Given the description of an element on the screen output the (x, y) to click on. 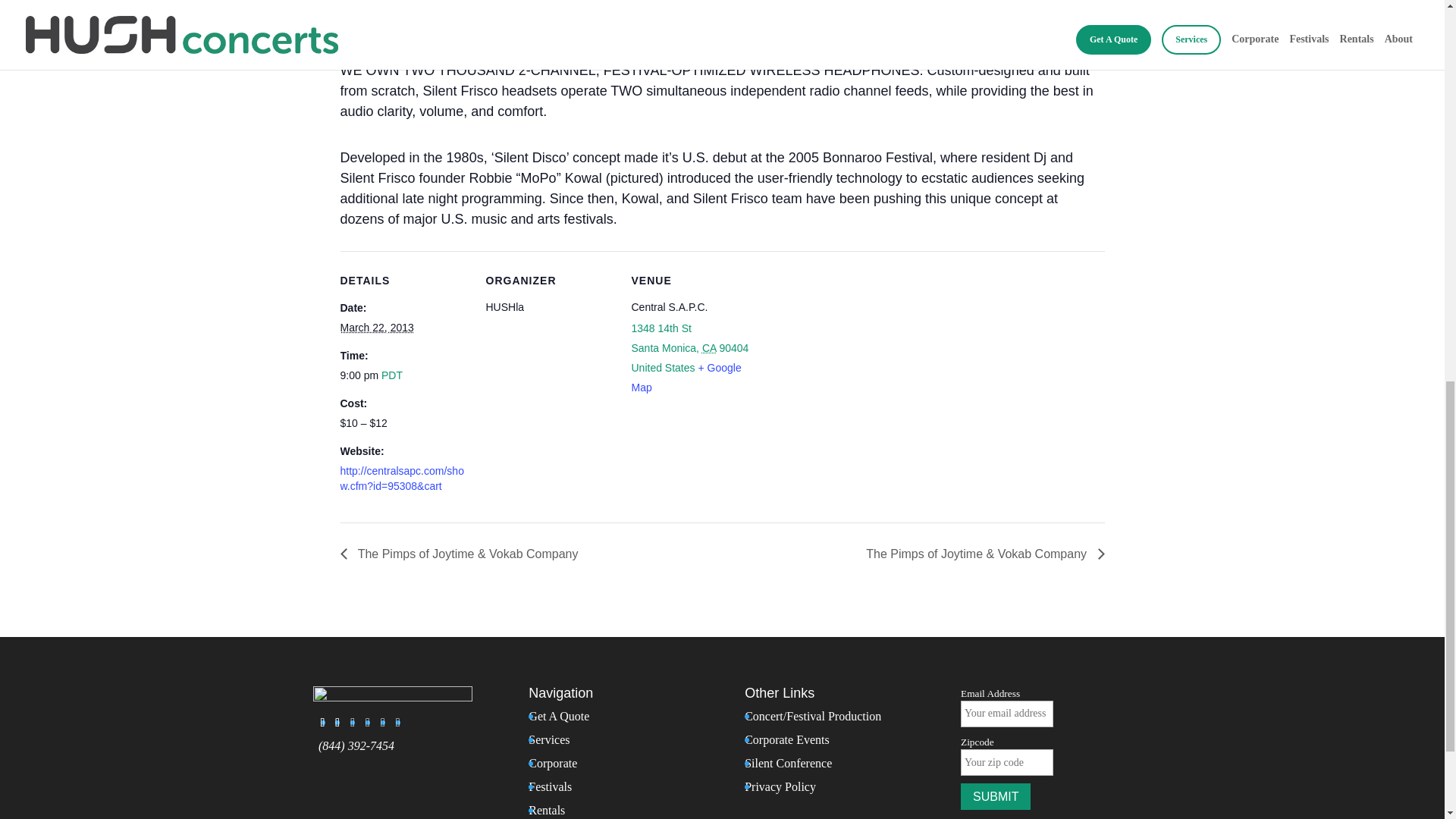
Get A Quote (558, 716)
Silent Conference (787, 762)
Submit (995, 795)
2013-03-22 (376, 327)
Services (548, 739)
Submit (995, 795)
Click to view a Google Map (685, 377)
Festivals (550, 786)
Rentals (546, 809)
